Given the description of an element on the screen output the (x, y) to click on. 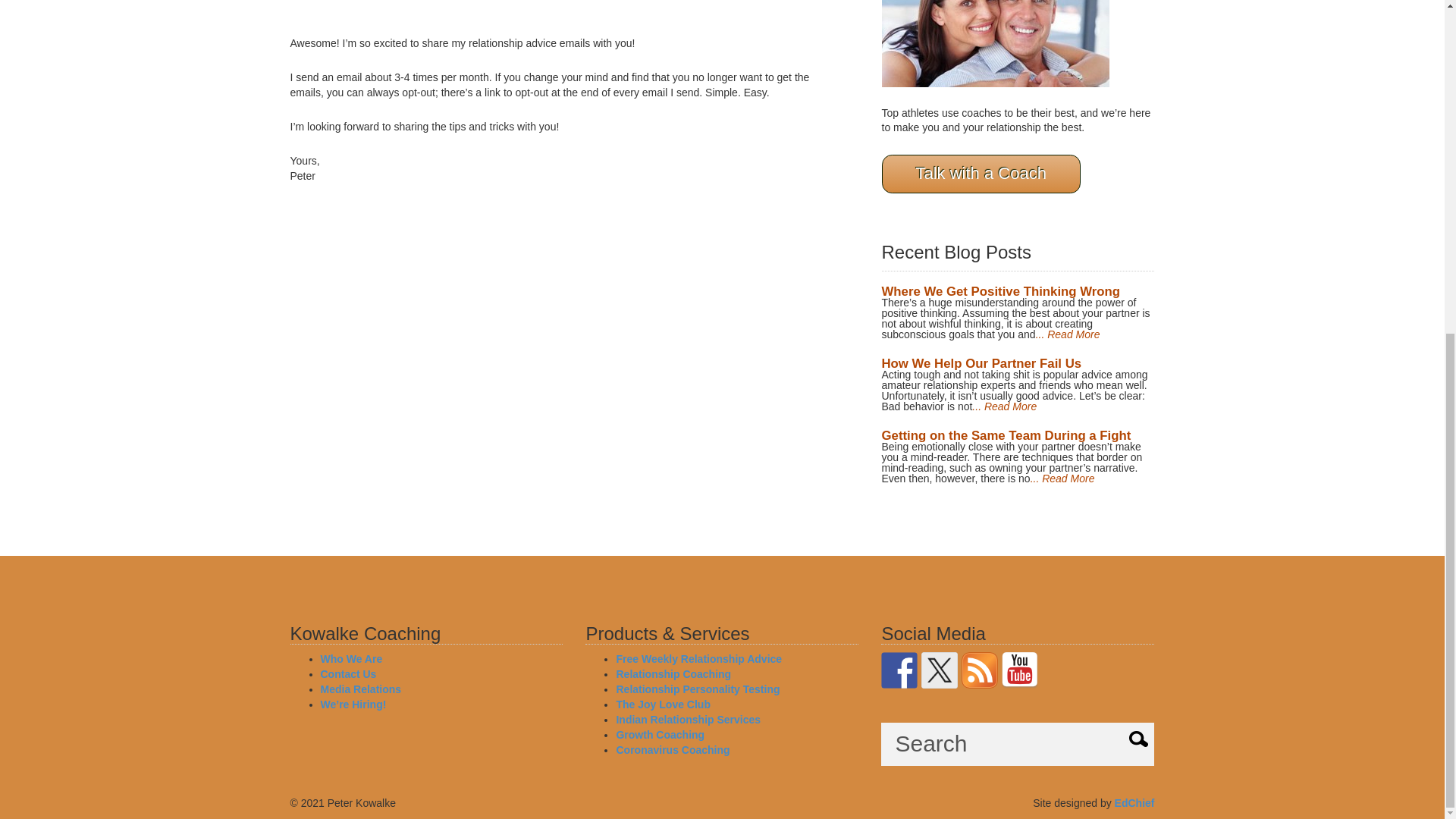
Who We Are (350, 658)
Where We Get Positive Thinking Wrong (999, 291)
Getting on the Same Team During a Fight (1005, 435)
... Read More (1004, 406)
The Joy Love Club (662, 704)
Media Relations (360, 689)
Indian Relationship Services (687, 719)
Relationship Personality Testing (696, 689)
... Read More (1062, 478)
How We Help Our Partner Fail Us (980, 363)
Growth Coaching (659, 734)
Contact Us (347, 674)
Relationship Coaching (672, 674)
... Read More (1067, 334)
Talk with a Coach (980, 173)
